Given the description of an element on the screen output the (x, y) to click on. 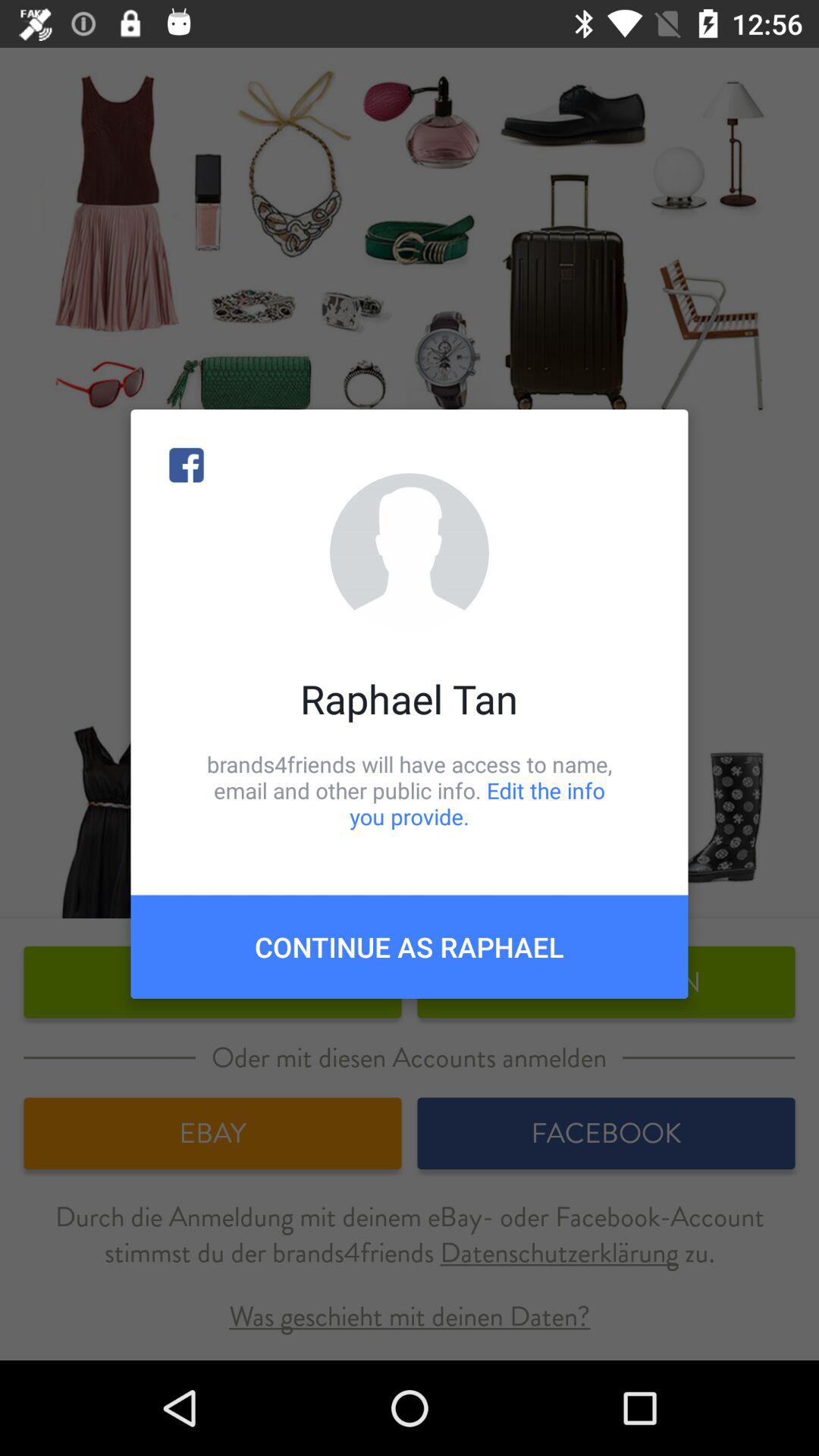
swipe until continue as raphael (409, 946)
